Given the description of an element on the screen output the (x, y) to click on. 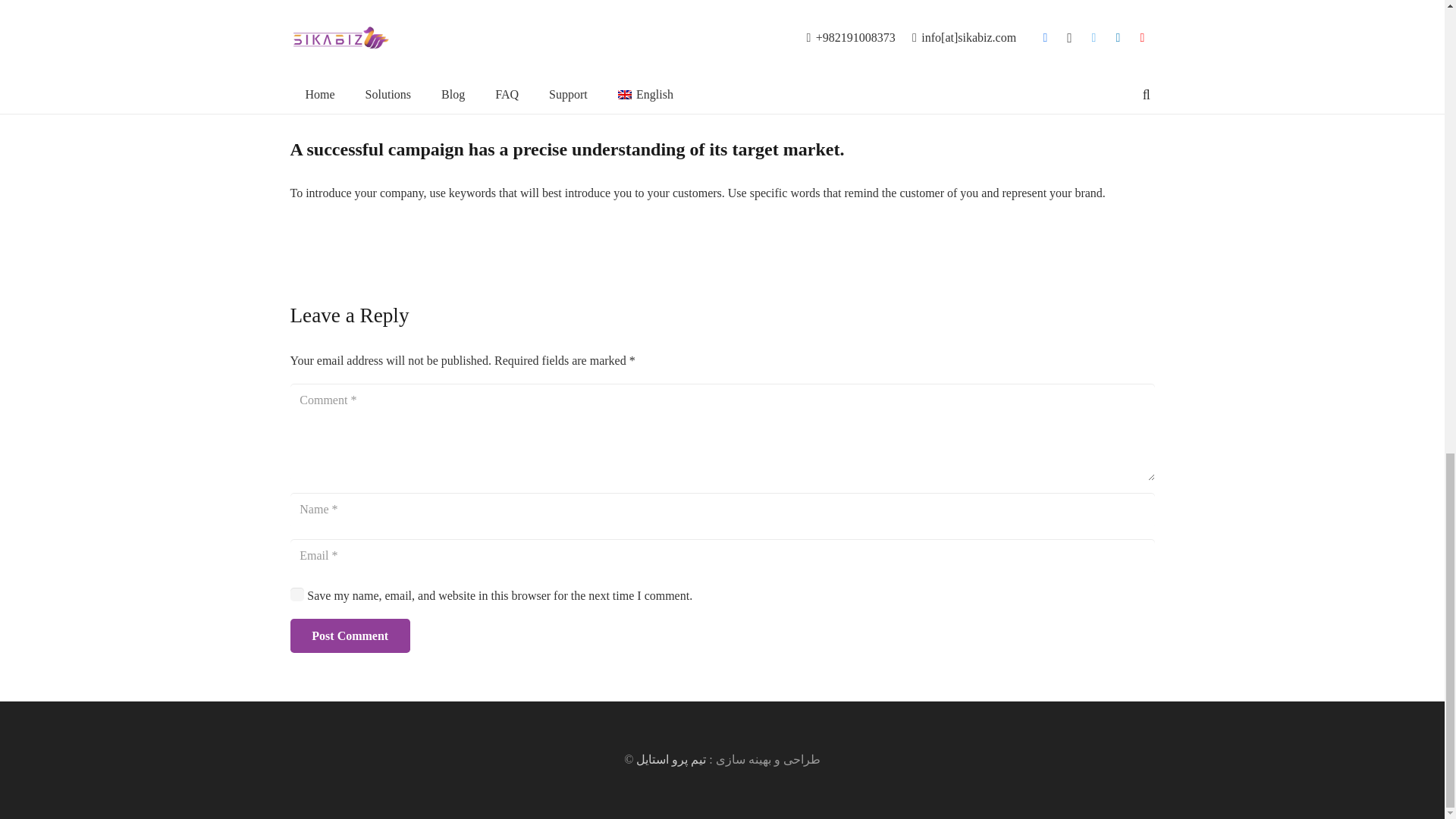
marketing campaigns (983, 58)
1 (296, 594)
Post Comment (349, 635)
